Given the description of an element on the screen output the (x, y) to click on. 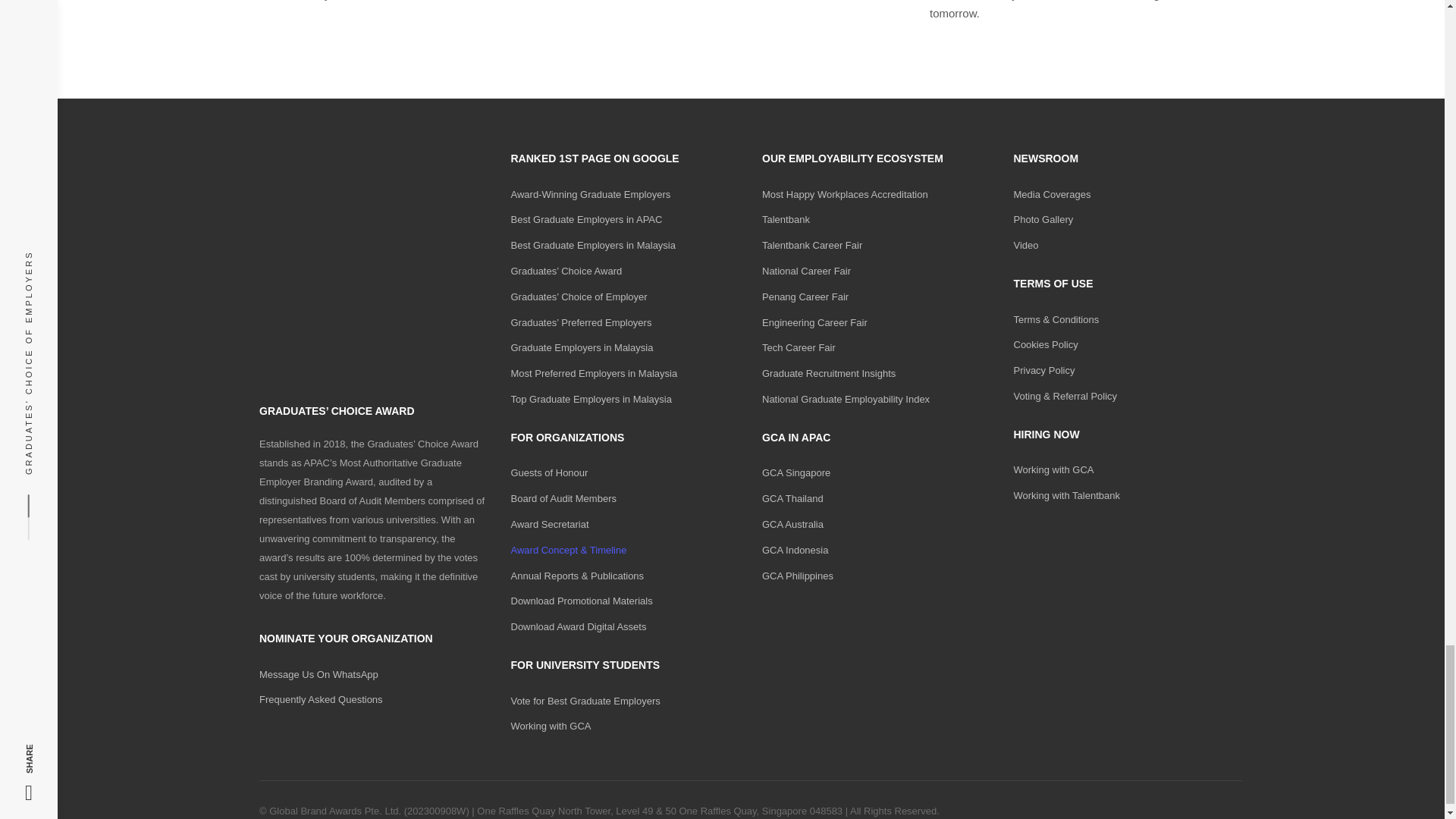
Frequently Asked Questions (320, 699)
Message Us On WhatsApp (318, 674)
Best Graduate Employers in APAC (586, 219)
Best Graduate Employers in Malaysia (593, 244)
Award-Winning Graduate Employers (591, 194)
